Given the description of an element on the screen output the (x, y) to click on. 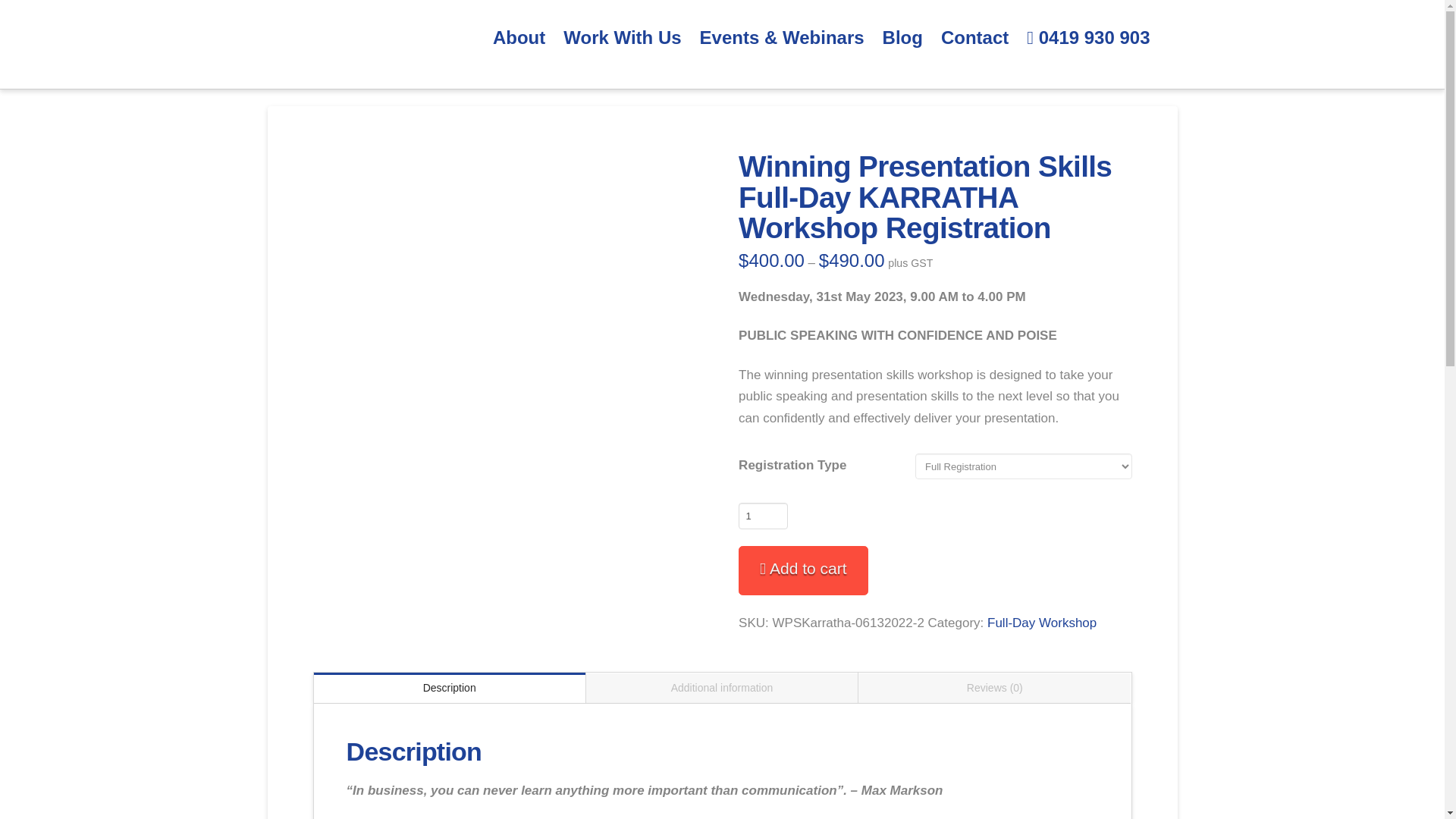
0419 930 903 (1087, 38)
Work With Us (622, 38)
1 (762, 515)
Contact (974, 38)
Additional information (721, 686)
Qty (762, 515)
Description (449, 686)
Add to cart (802, 570)
Full-Day Workshop (1041, 622)
About (518, 38)
